Given the description of an element on the screen output the (x, y) to click on. 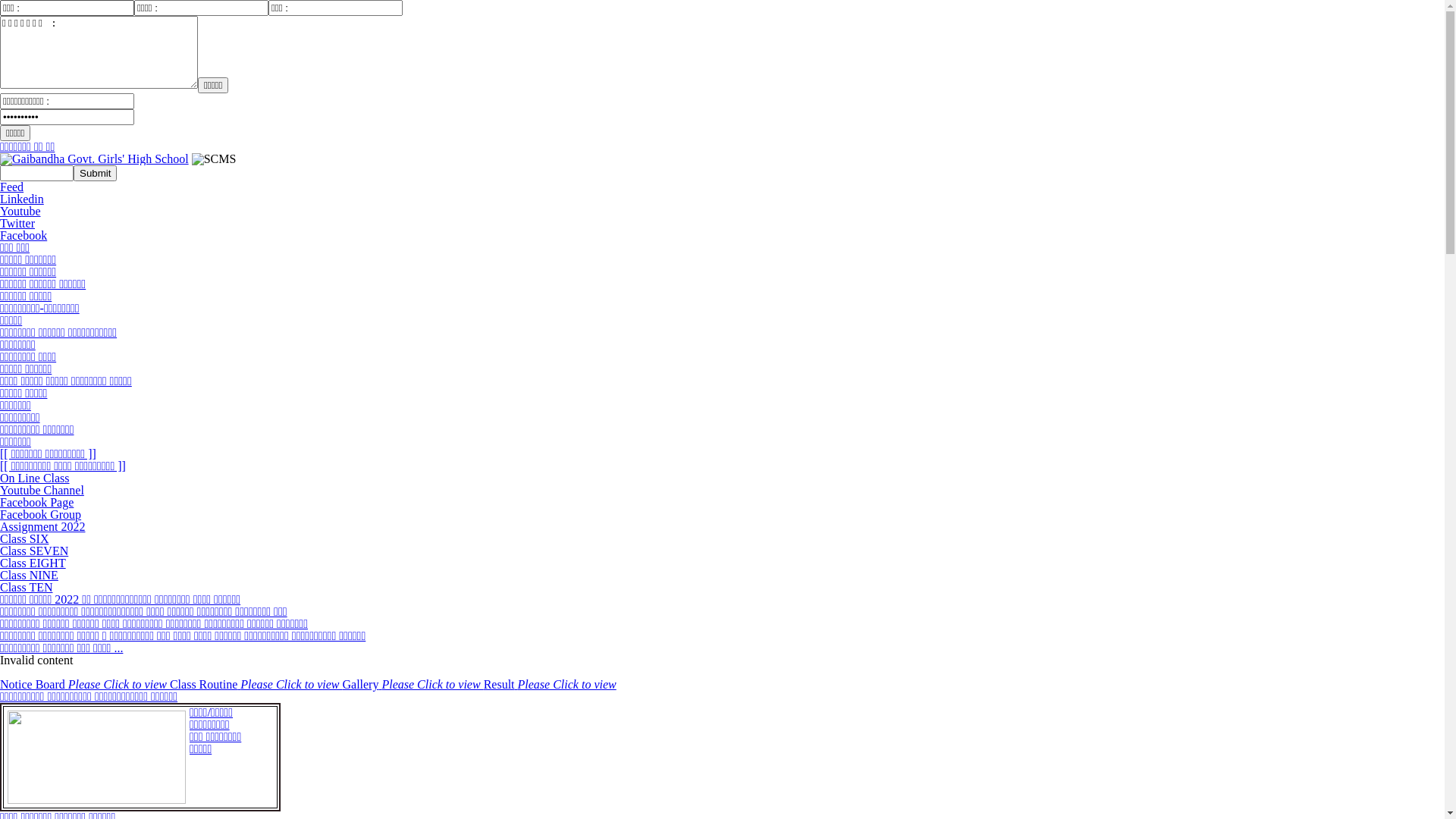
Notice Board Please Click to view Element type: text (84, 683)
Feed Element type: text (11, 186)
Class NINE Element type: text (29, 574)
Class SIX Element type: text (24, 538)
Youtube Channel Element type: text (42, 489)
Facebook Page Element type: text (36, 501)
Class Routine Please Click to view Element type: text (255, 683)
Class TEN Element type: text (26, 586)
Assignment 2022 Element type: text (42, 526)
Gallery Please Click to view Element type: text (412, 683)
Class SEVEN Element type: text (34, 550)
Facebook Group Element type: text (40, 514)
Result Please Click to view Element type: text (549, 683)
Twitter Element type: text (17, 222)
Class EIGHT Element type: text (32, 562)
On Line Class Element type: text (34, 477)
Submit Element type: text (94, 173)
Linkedin Element type: text (21, 198)
Youtube Element type: text (20, 210)
Facebook Element type: text (23, 235)
